Given the description of an element on the screen output the (x, y) to click on. 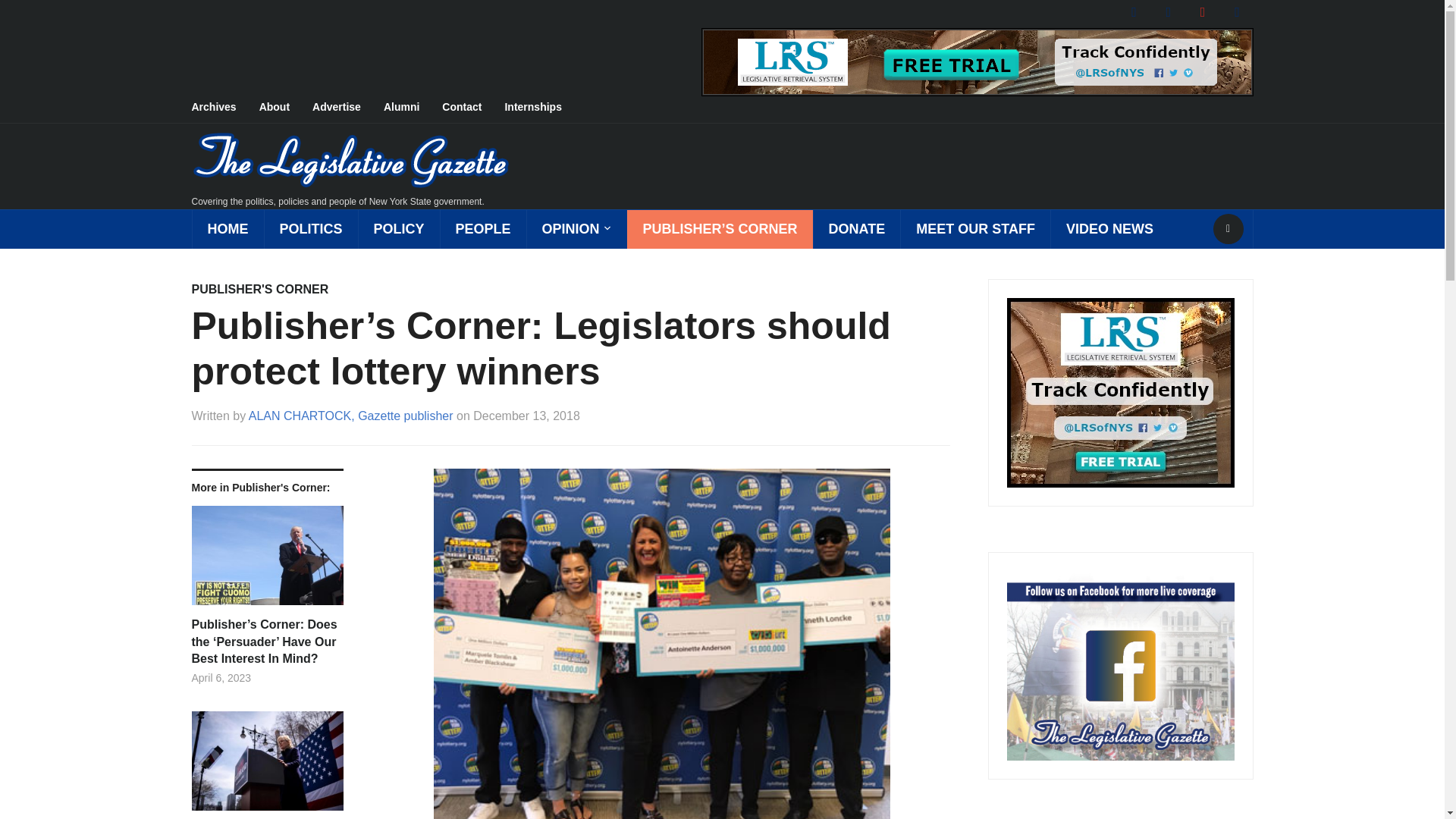
POLICY (398, 228)
About (286, 107)
Alumni (413, 107)
Friend me on Facebook (1134, 10)
Search (1227, 228)
HOME (226, 228)
Default Label (1236, 10)
POLITICS (310, 228)
Contact (472, 107)
Internships (543, 107)
Follow Me (1168, 10)
Advertise (348, 107)
Archives (224, 107)
